Given the description of an element on the screen output the (x, y) to click on. 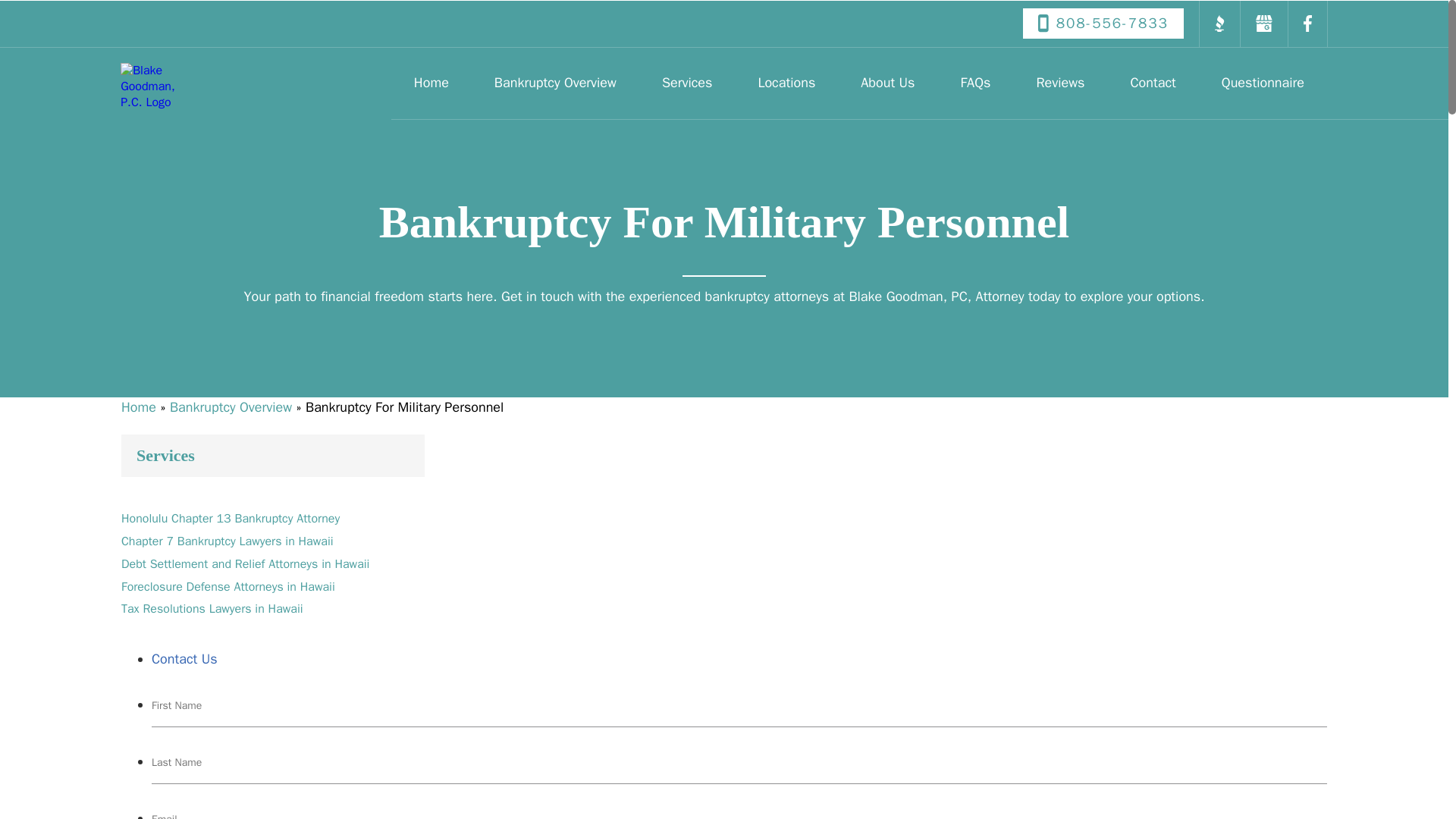
808-556-7833 (1103, 23)
Locations (786, 82)
Services (687, 82)
Home (430, 82)
FAQs (974, 82)
About Us (887, 82)
Bankruptcy Overview (555, 82)
